Given the description of an element on the screen output the (x, y) to click on. 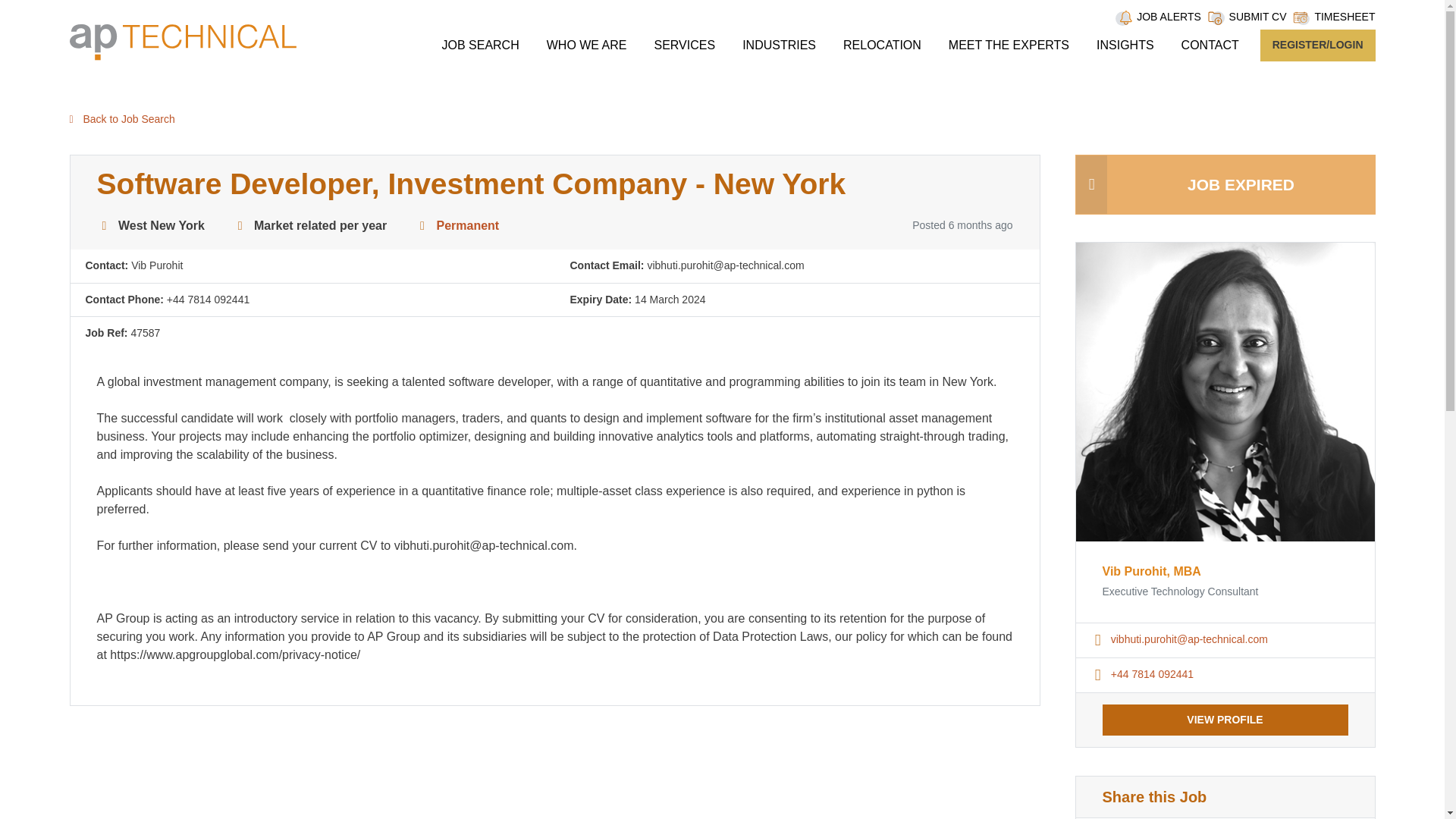
Salary (239, 225)
JOB SEARCH (479, 45)
Job Type (421, 225)
INDUSTRIES (779, 45)
SUBMIT CV (1257, 17)
JOB ALERTS (1169, 17)
WHO WE ARE (586, 45)
SERVICES (683, 45)
Location (104, 225)
TIMESHEET (1344, 17)
